Given the description of an element on the screen output the (x, y) to click on. 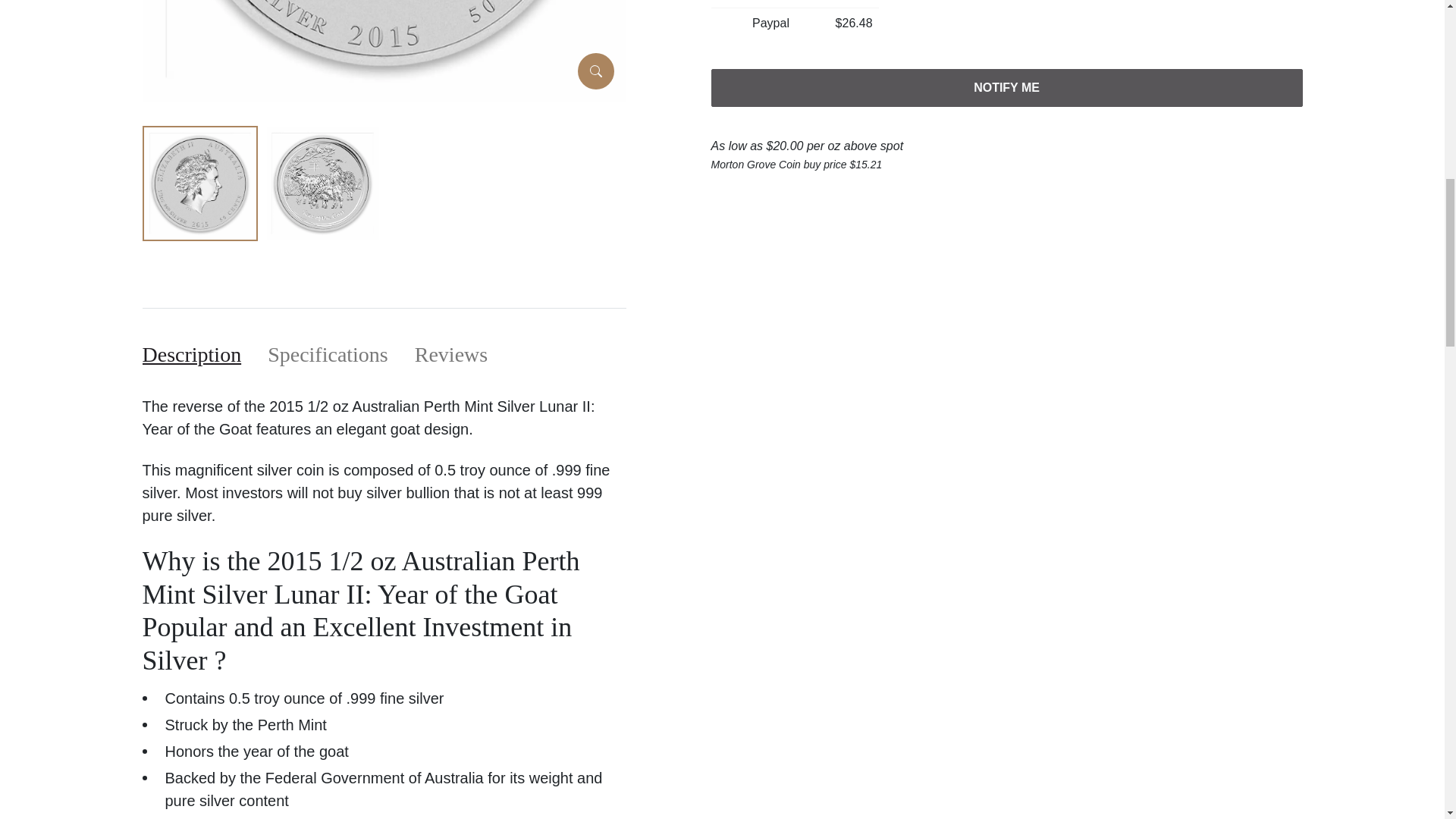
NOTIFY ME (1007, 87)
Specifications (327, 355)
Reviews (450, 355)
Description (191, 355)
